Given the description of an element on the screen output the (x, y) to click on. 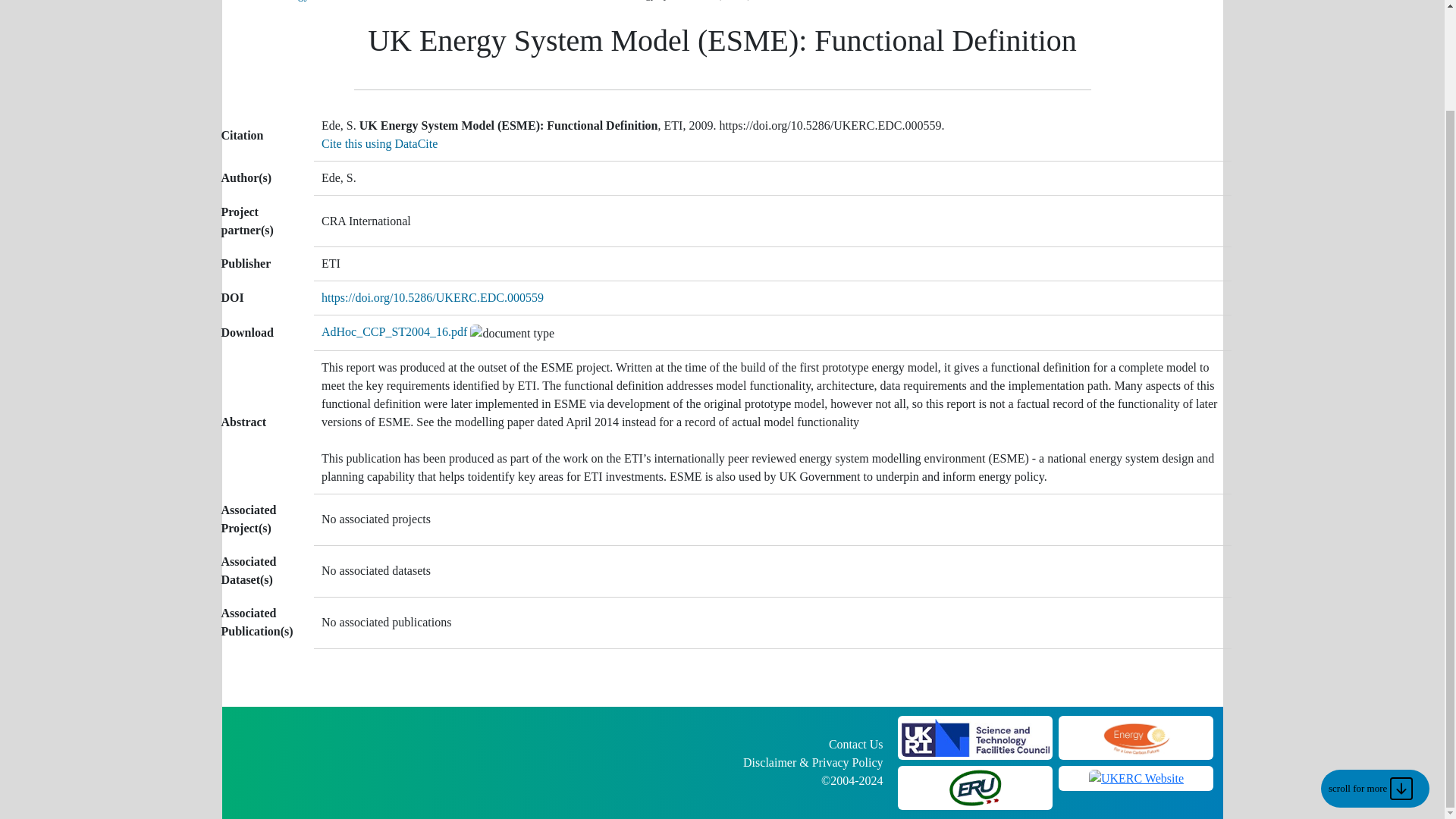
Cite this using DataCite (379, 143)
Back to Results (547, 0)
Contact Us (855, 744)
Privacy Policy (847, 762)
scroll for more (1374, 671)
Disclaimer (769, 762)
